Given the description of an element on the screen output the (x, y) to click on. 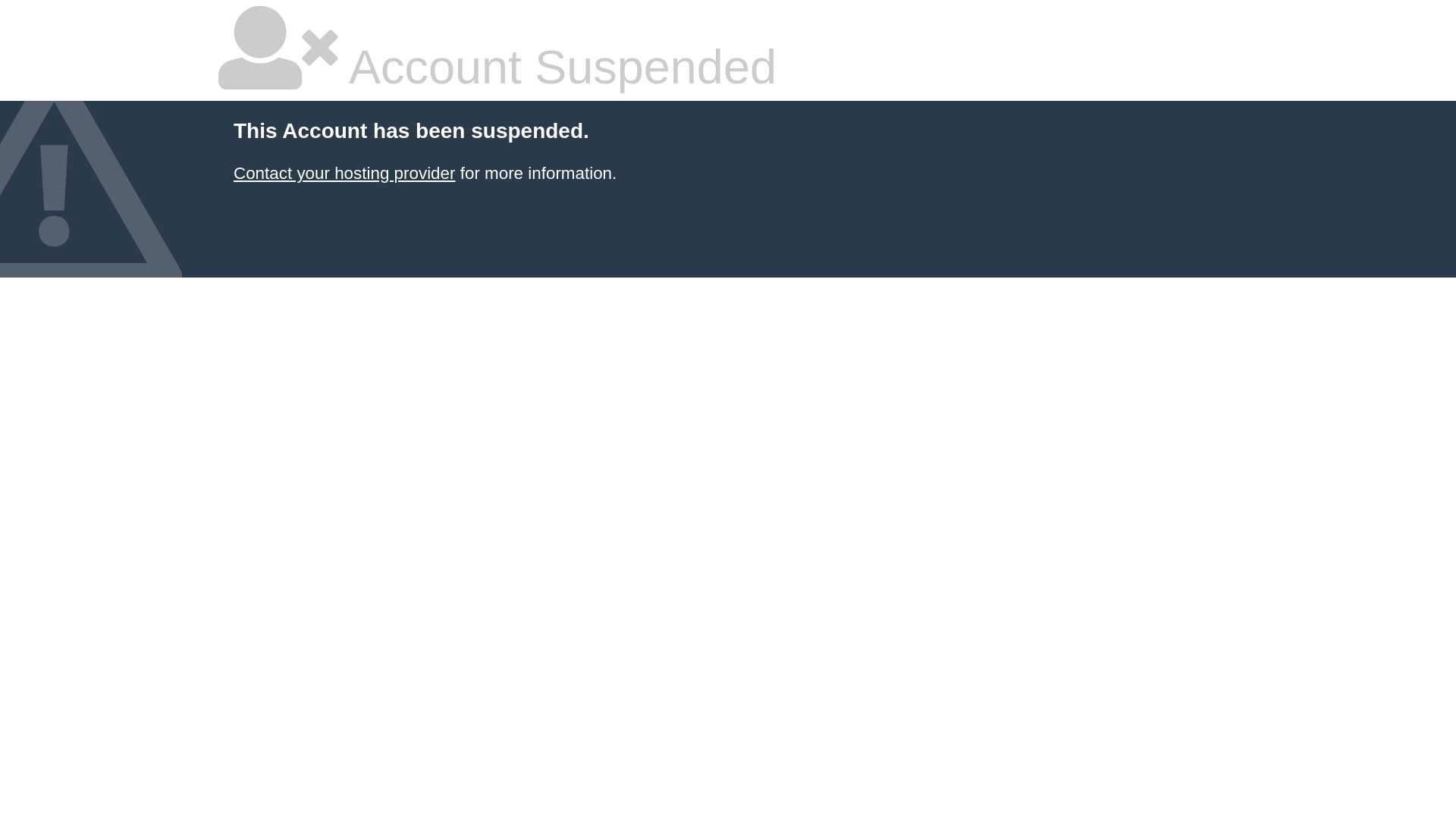
Contact your hosting provider Element type: text (344, 172)
